Given the description of an element on the screen output the (x, y) to click on. 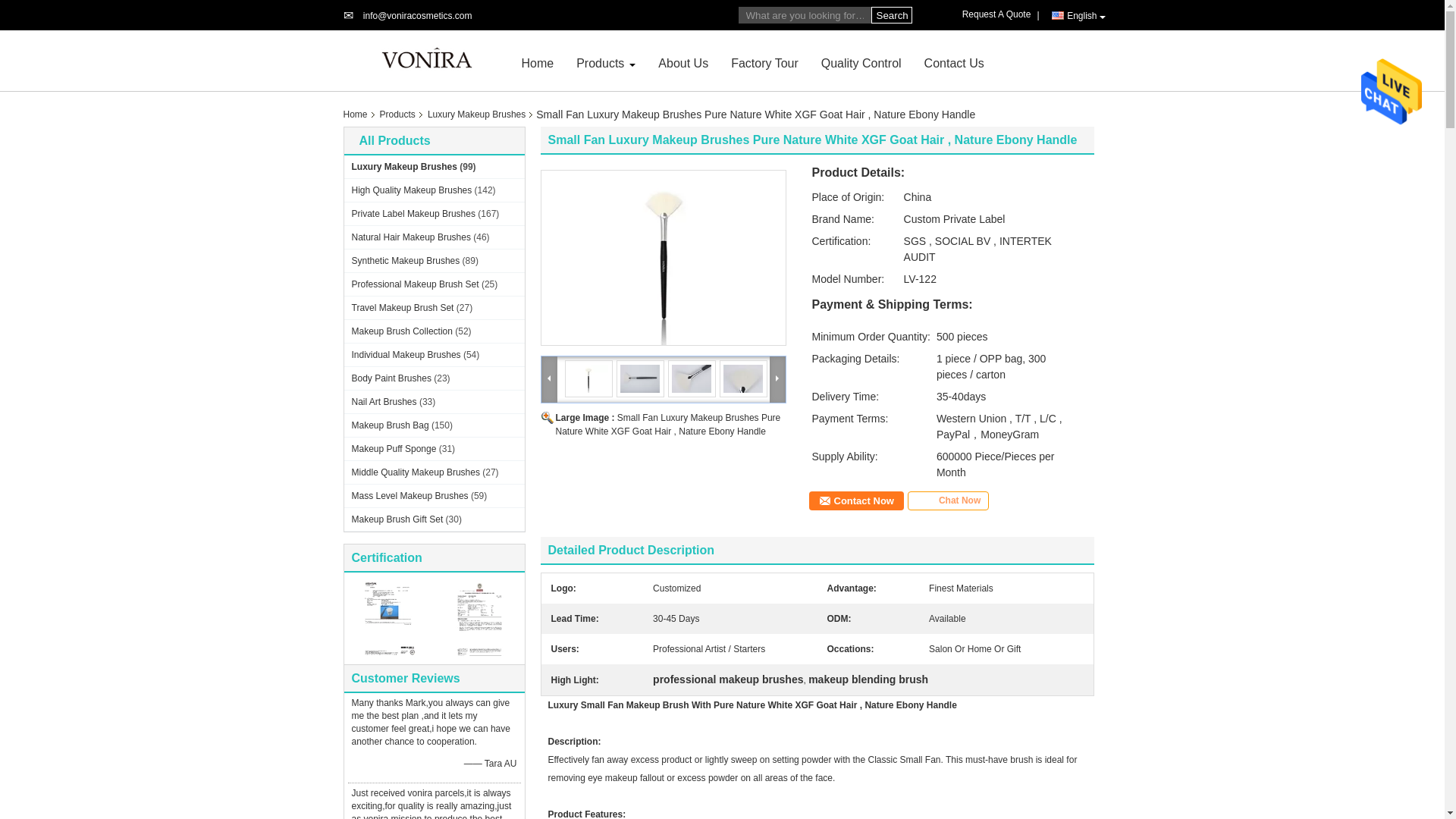
Request A Quote (999, 14)
Search (890, 14)
Home (537, 62)
Changsha Chanmy Cosmetics Co., Ltd (416, 15)
Products (600, 62)
English (1078, 15)
